Given the description of an element on the screen output the (x, y) to click on. 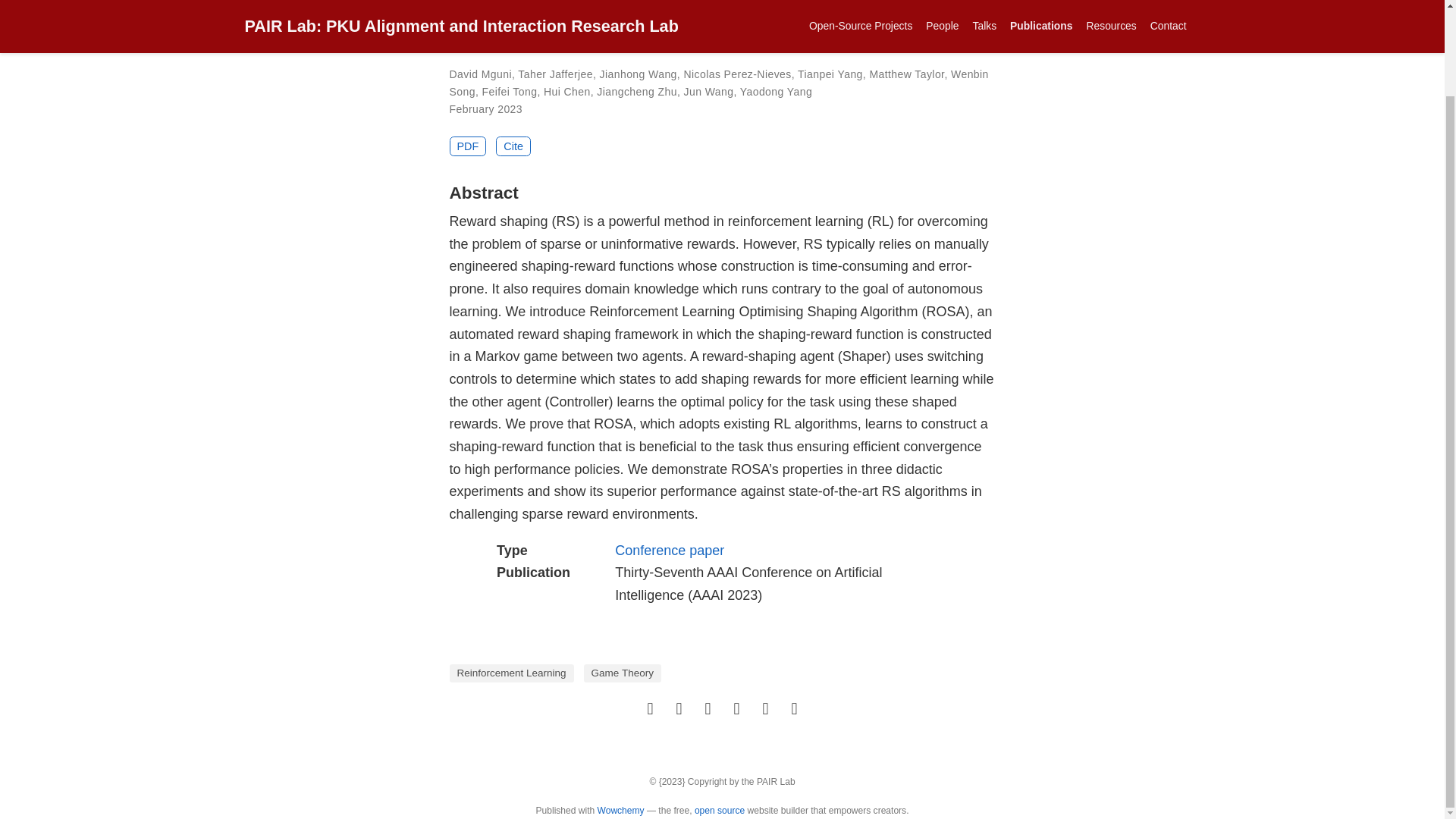
Cite (513, 146)
Wowchemy (620, 810)
PDF (467, 146)
open source (719, 810)
Jun Wang (708, 91)
Game Theory (622, 673)
Hui Chen (567, 91)
Conference paper (668, 549)
Matthew Taylor (906, 73)
Tianpei Yang (830, 73)
